Given the description of an element on the screen output the (x, y) to click on. 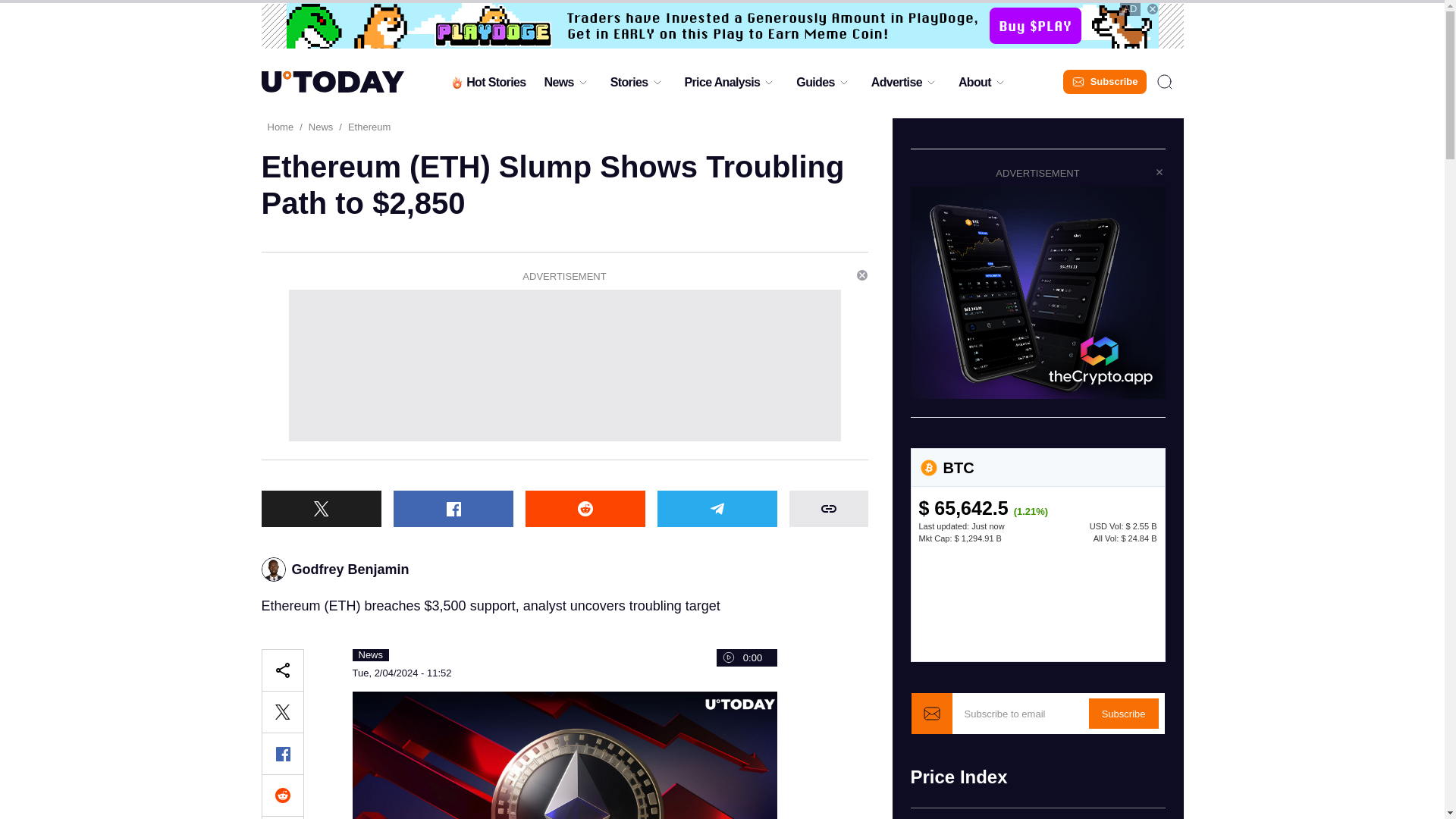
Share to Reddit (584, 508)
Playdoge (722, 25)
Share to Telegram (716, 508)
Advertisement (564, 365)
News (558, 85)
Hot Stories (486, 85)
Share to Facebook (452, 508)
Share to X (320, 508)
U.Today logo (331, 81)
